Given the description of an element on the screen output the (x, y) to click on. 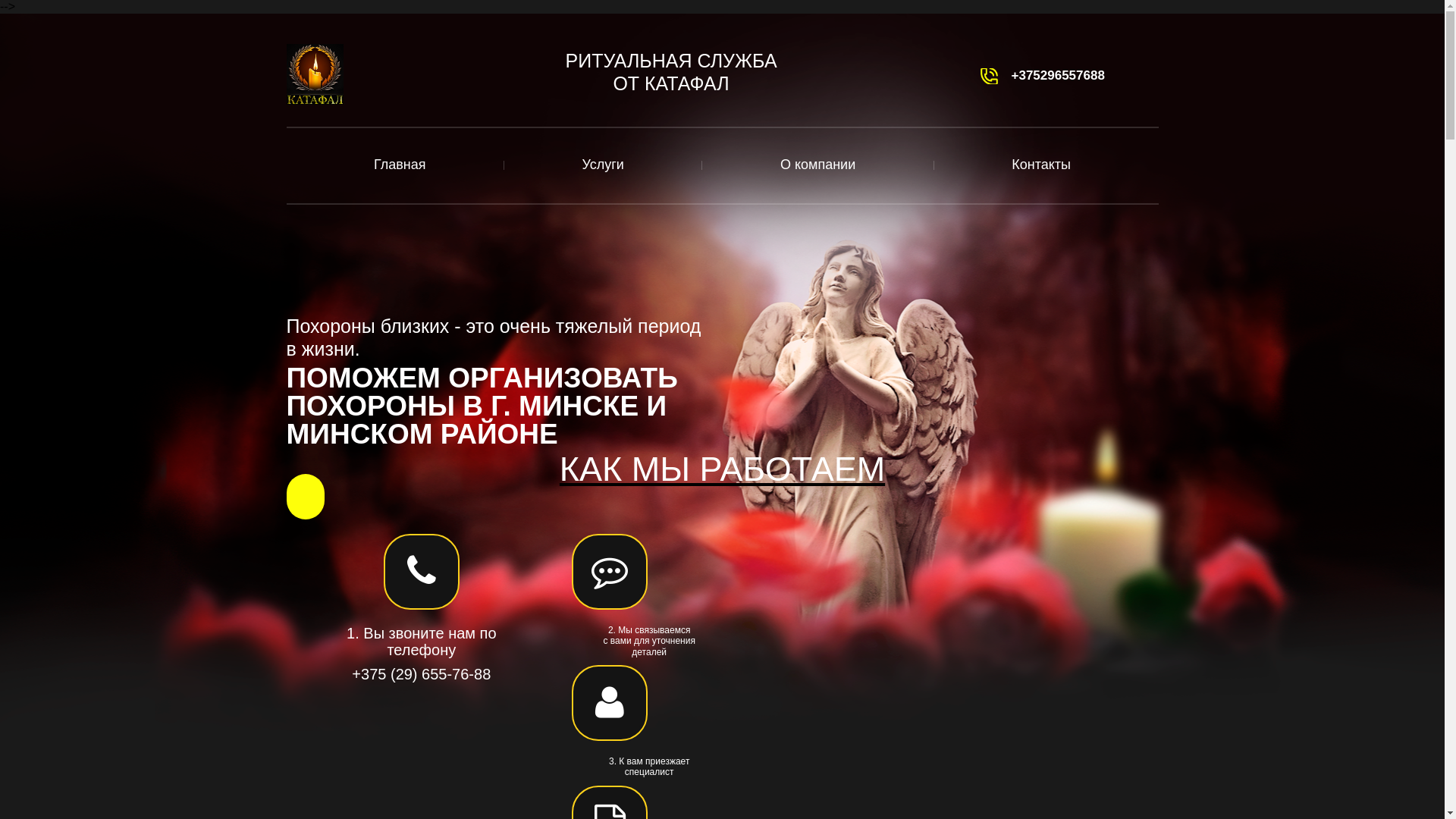
+375296557688 Element type: text (1057, 75)
+375 (29) 655-76-88 Element type: text (420, 673)
